Given the description of an element on the screen output the (x, y) to click on. 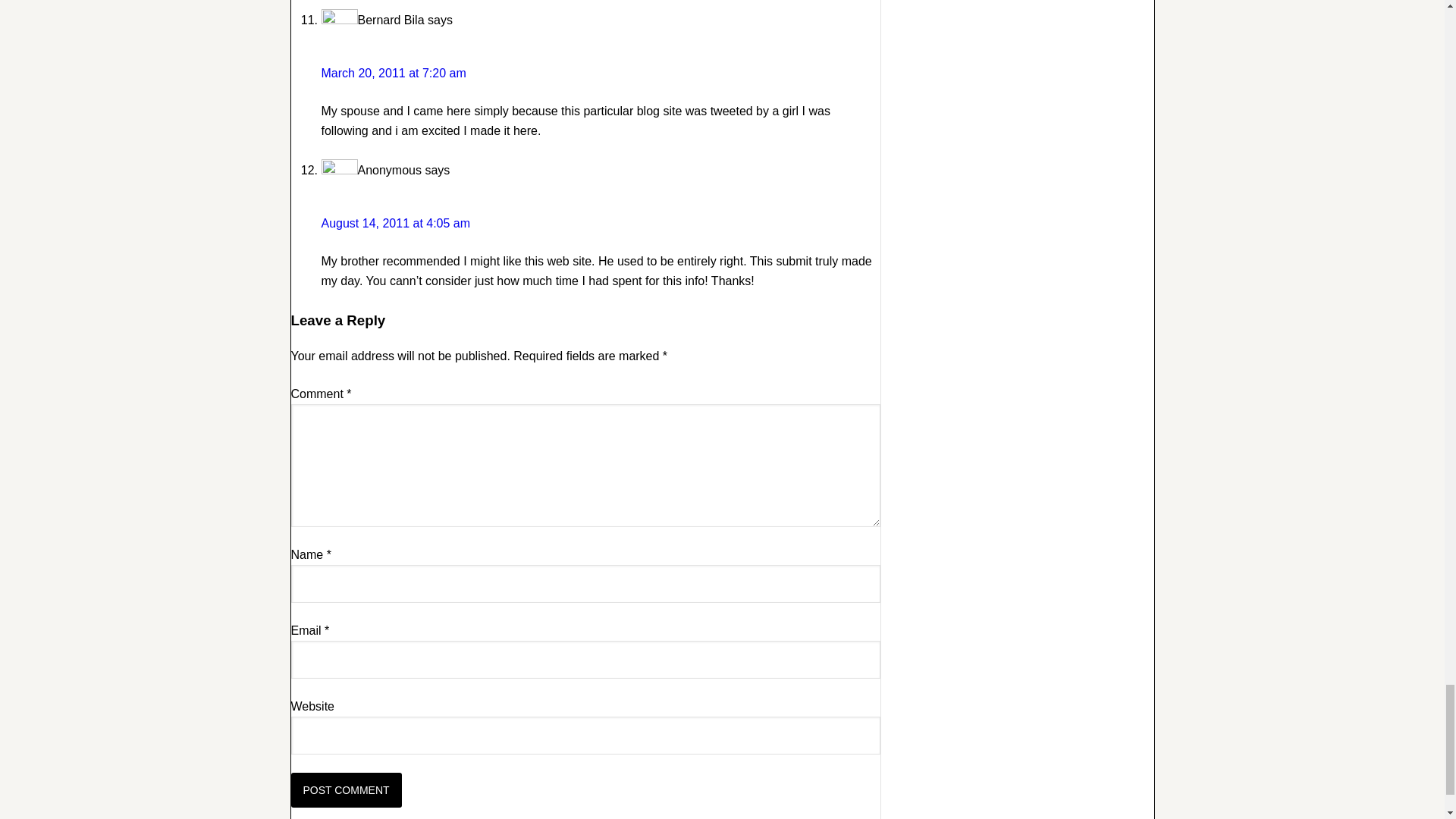
Post Comment (346, 790)
